Given the description of an element on the screen output the (x, y) to click on. 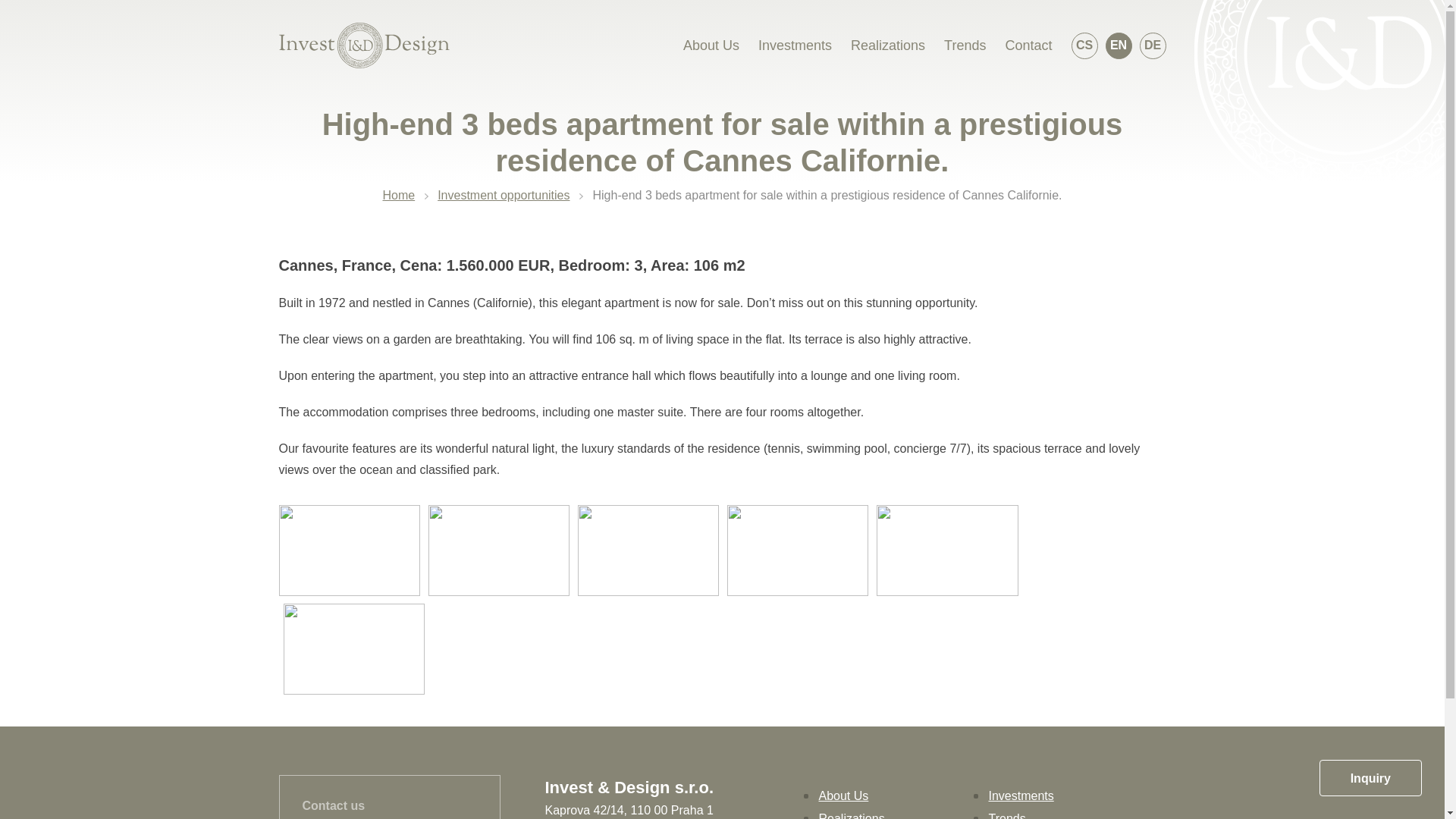
DE (1152, 44)
Realizations (851, 815)
Realizations (887, 45)
CS (1083, 44)
About Us (710, 45)
Investment opportunities (503, 195)
Contact (1027, 45)
Inquiry (1370, 778)
Trends (964, 45)
About Us (843, 795)
Trends (1007, 815)
EN (1118, 44)
Investments (1021, 795)
Investments (794, 45)
Home (397, 195)
